Given the description of an element on the screen output the (x, y) to click on. 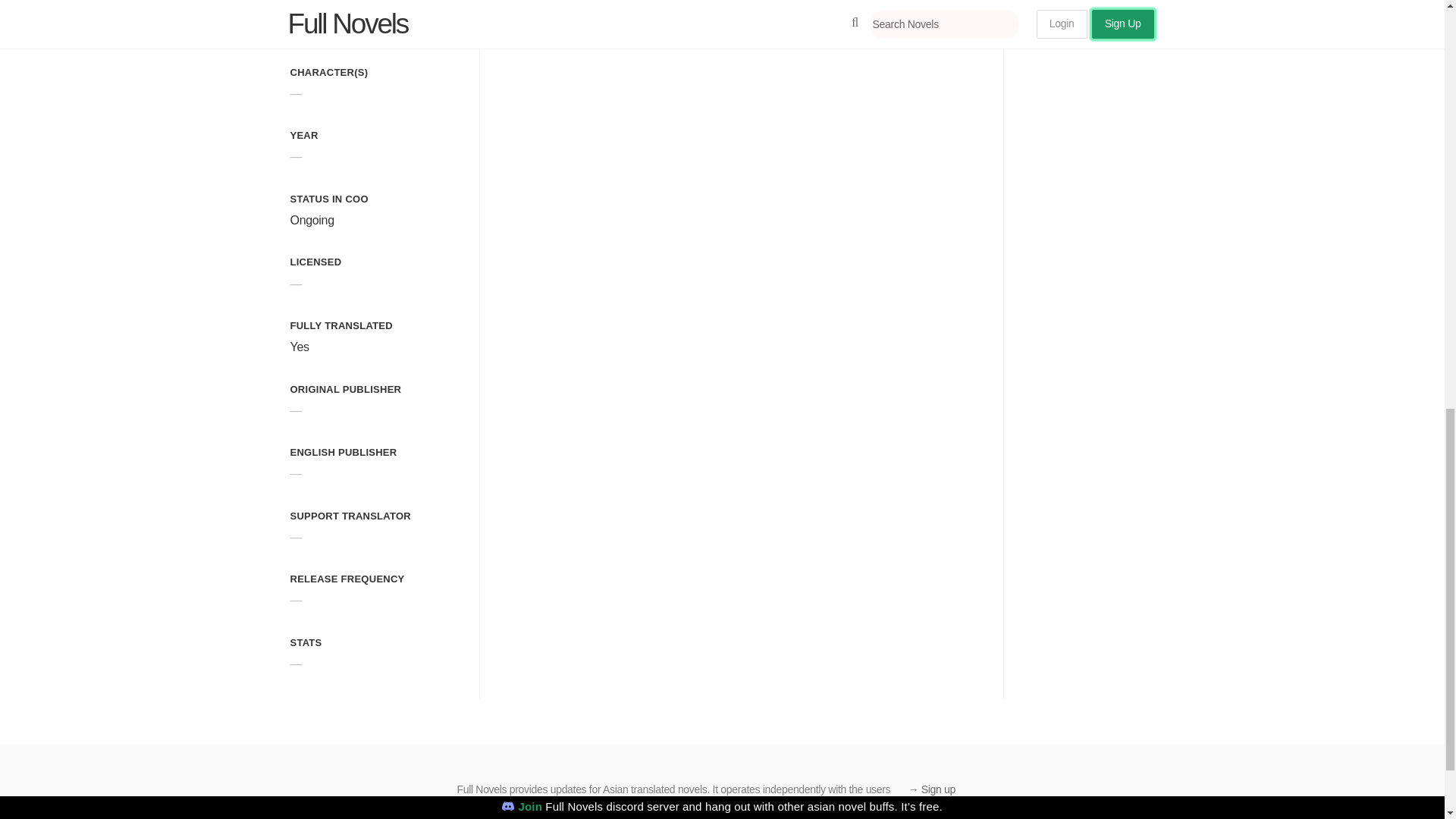
Status in Country of Origin (328, 198)
Support Translator (349, 515)
